Given the description of an element on the screen output the (x, y) to click on. 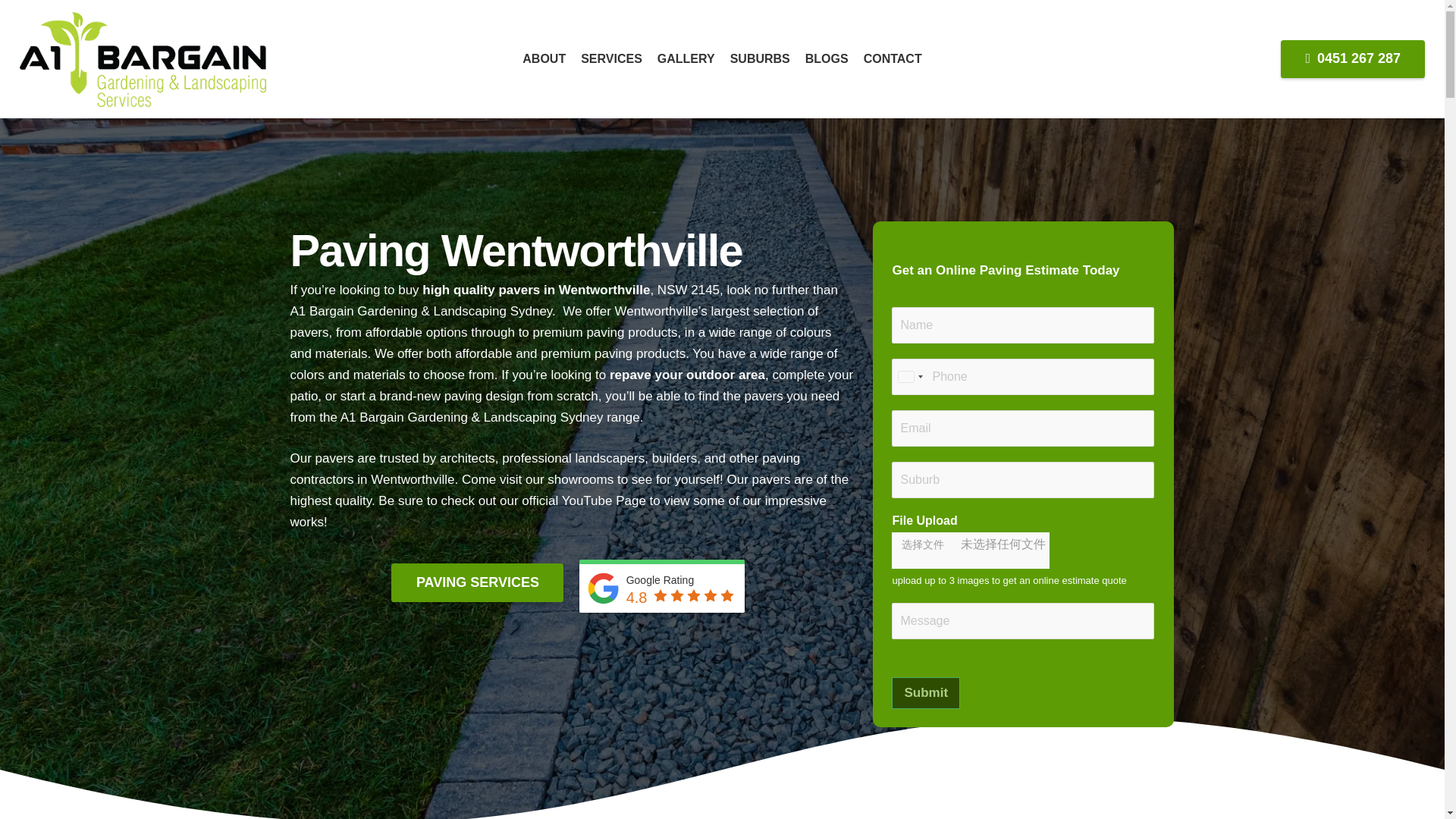
PAVING SERVICES (477, 582)
Submit (925, 693)
0451 267 287 (1353, 58)
